Given the description of an element on the screen output the (x, y) to click on. 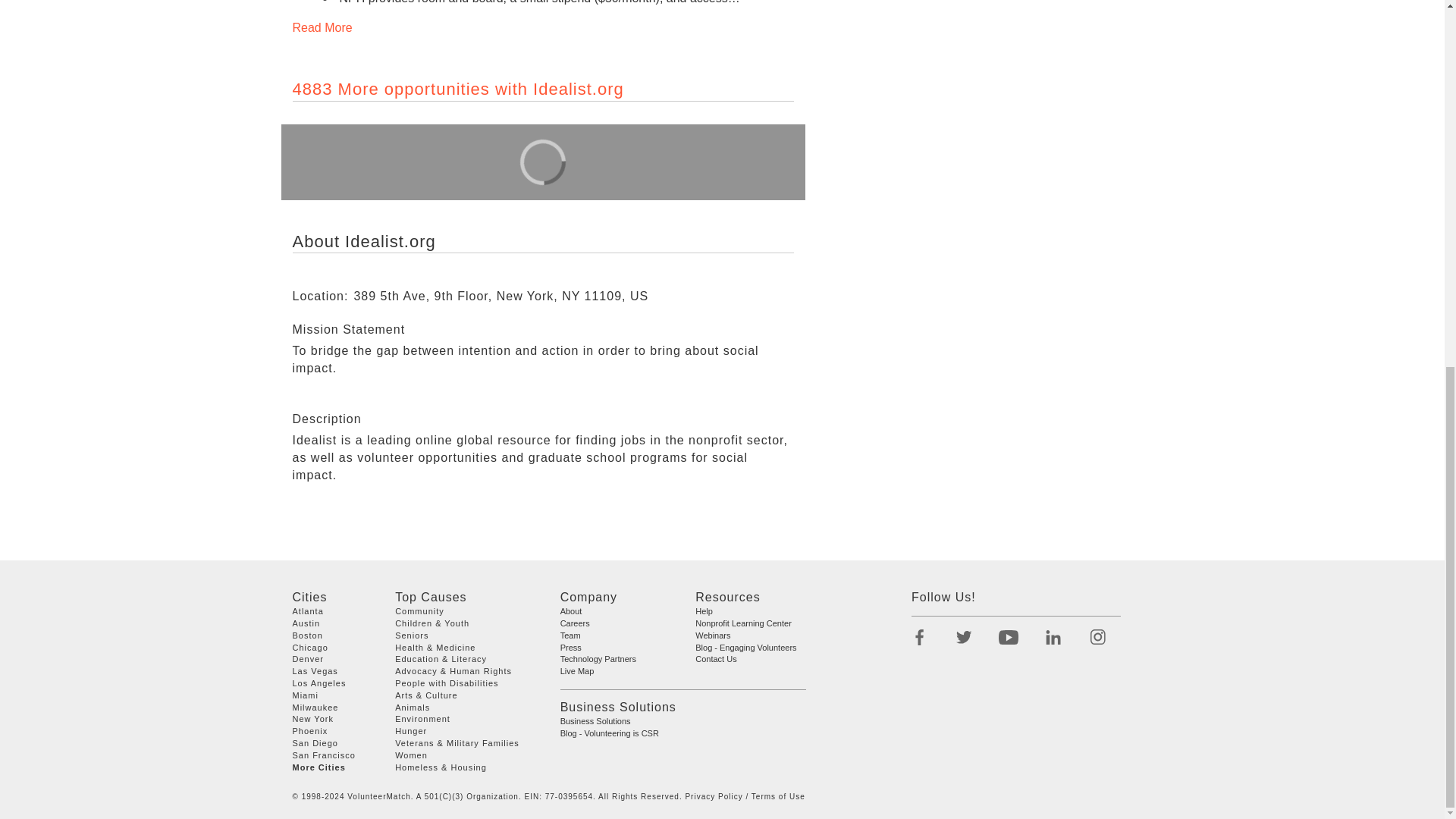
Austin (306, 623)
Las Vegas (314, 670)
Chicago (310, 646)
Boston (307, 634)
Denver (307, 658)
Opens a widget where you can find more information (57, 131)
Atlanta (307, 610)
4883 More opportunities with Idealist.org (458, 88)
